Given the description of an element on the screen output the (x, y) to click on. 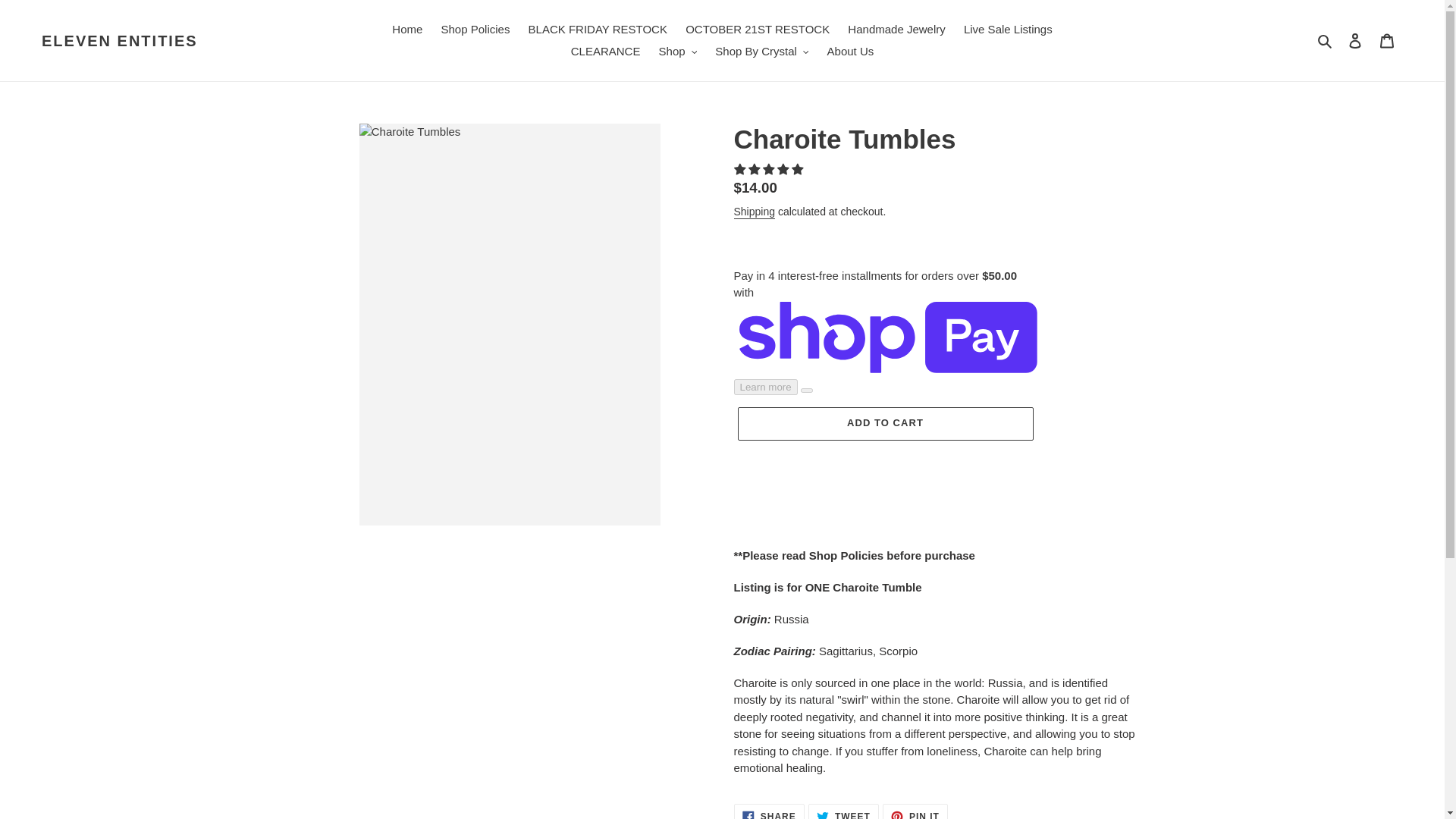
Home (406, 29)
Shop Policies (475, 29)
ELEVEN ENTITIES (120, 40)
Shop By Crystal (761, 51)
Shop (677, 51)
Handmade Jewelry (896, 29)
OCTOBER 21ST RESTOCK (757, 29)
CLEARANCE (605, 51)
Live Sale Listings (1007, 29)
BLACK FRIDAY RESTOCK (598, 29)
